Given the description of an element on the screen output the (x, y) to click on. 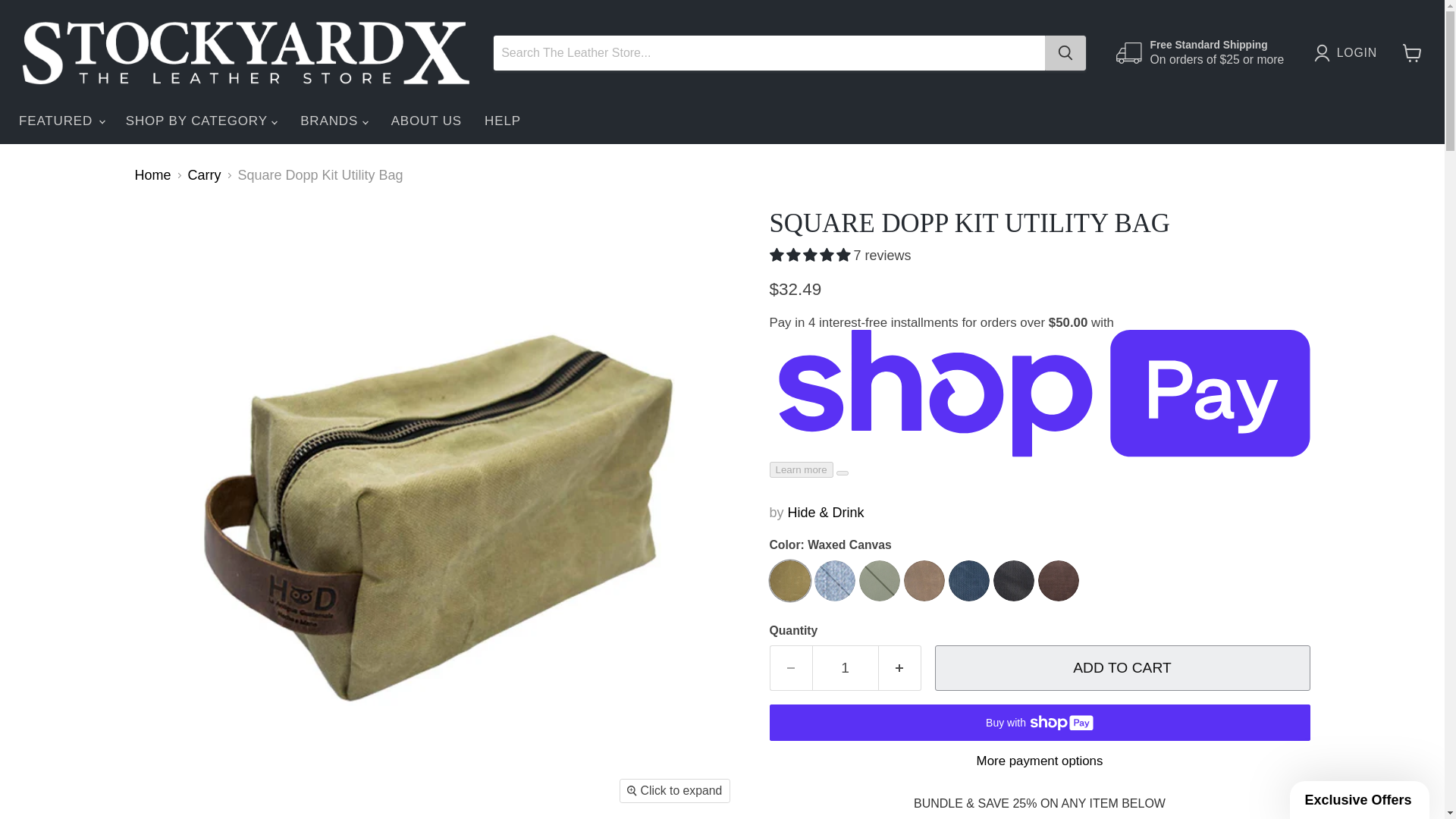
1 (843, 668)
LOGIN (1349, 53)
View cart (1411, 52)
